Given the description of an element on the screen output the (x, y) to click on. 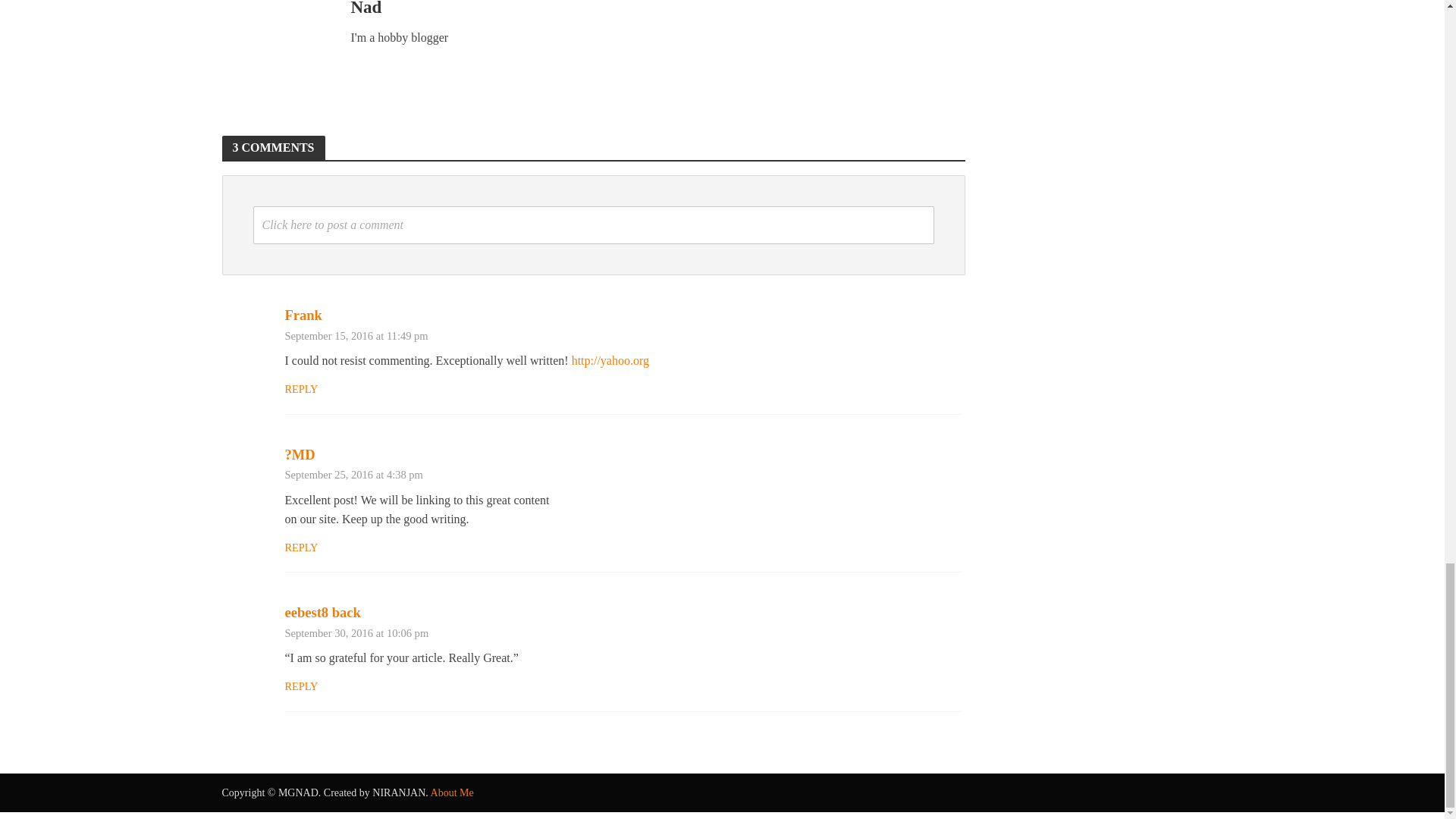
?MD (300, 455)
Frank (303, 315)
REPLY (301, 390)
September 15, 2016 at 11:49 pm (356, 336)
